Given the description of an element on the screen output the (x, y) to click on. 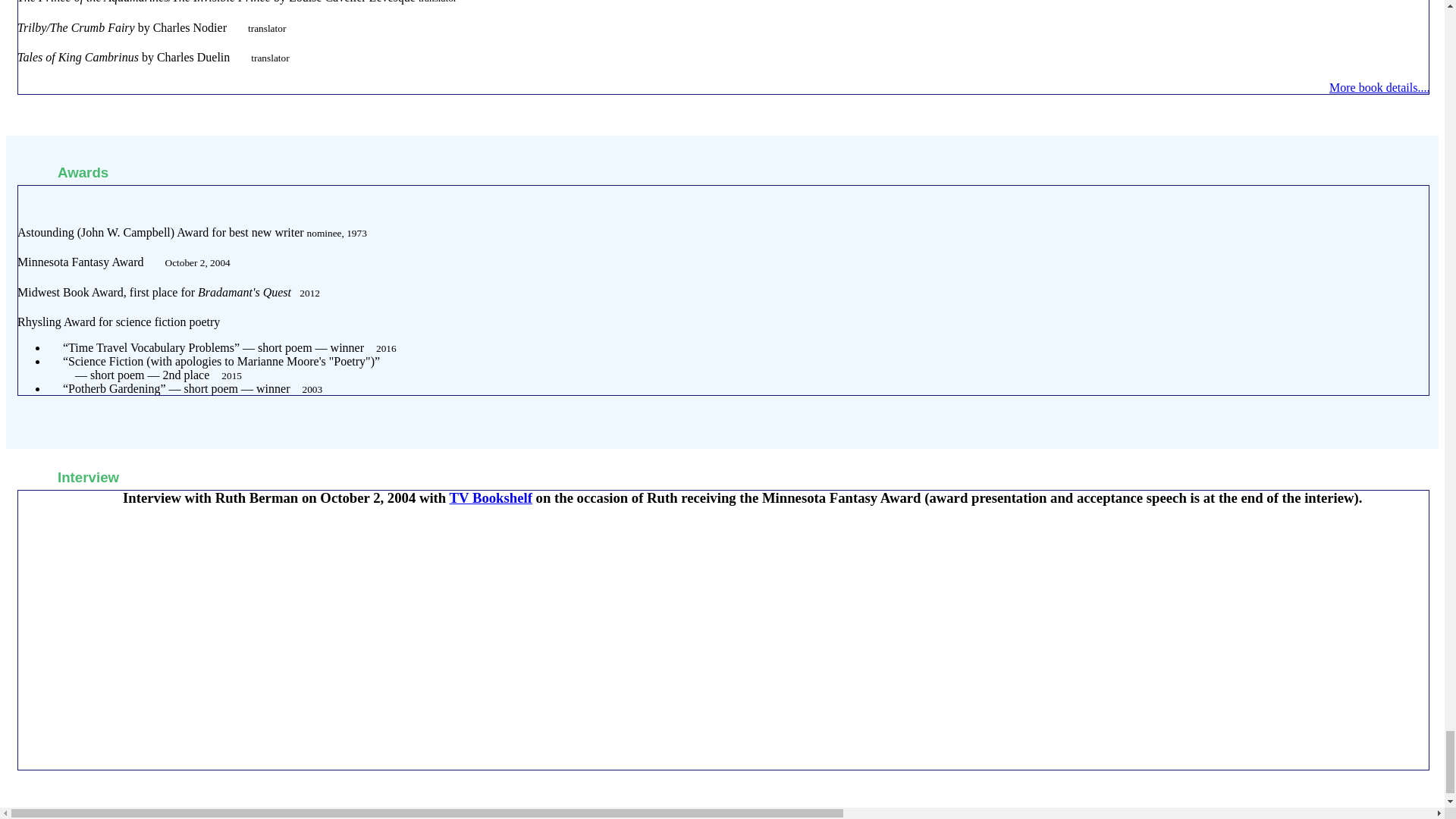
TV Bookshelf (490, 497)
More book details.... (1379, 87)
